Given the description of an element on the screen output the (x, y) to click on. 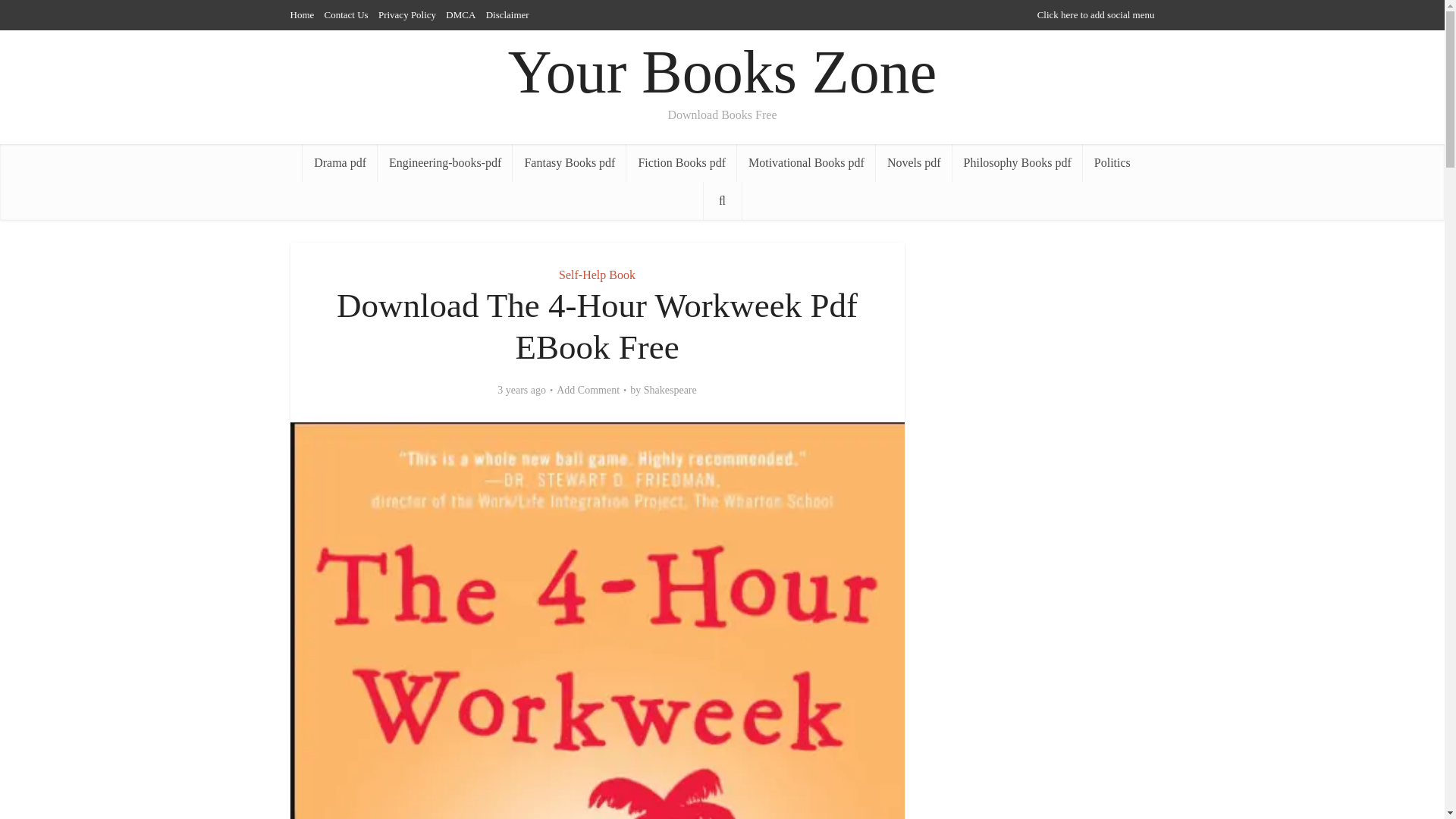
Fiction Books pdf (681, 162)
Add Comment (588, 390)
Shakespeare (670, 390)
Your Books Zone (722, 71)
Drama pdf (339, 162)
Home (301, 14)
Novels pdf (914, 162)
Privacy Policy (406, 14)
Politics (1112, 162)
Self-Help Book (596, 274)
